Given the description of an element on the screen output the (x, y) to click on. 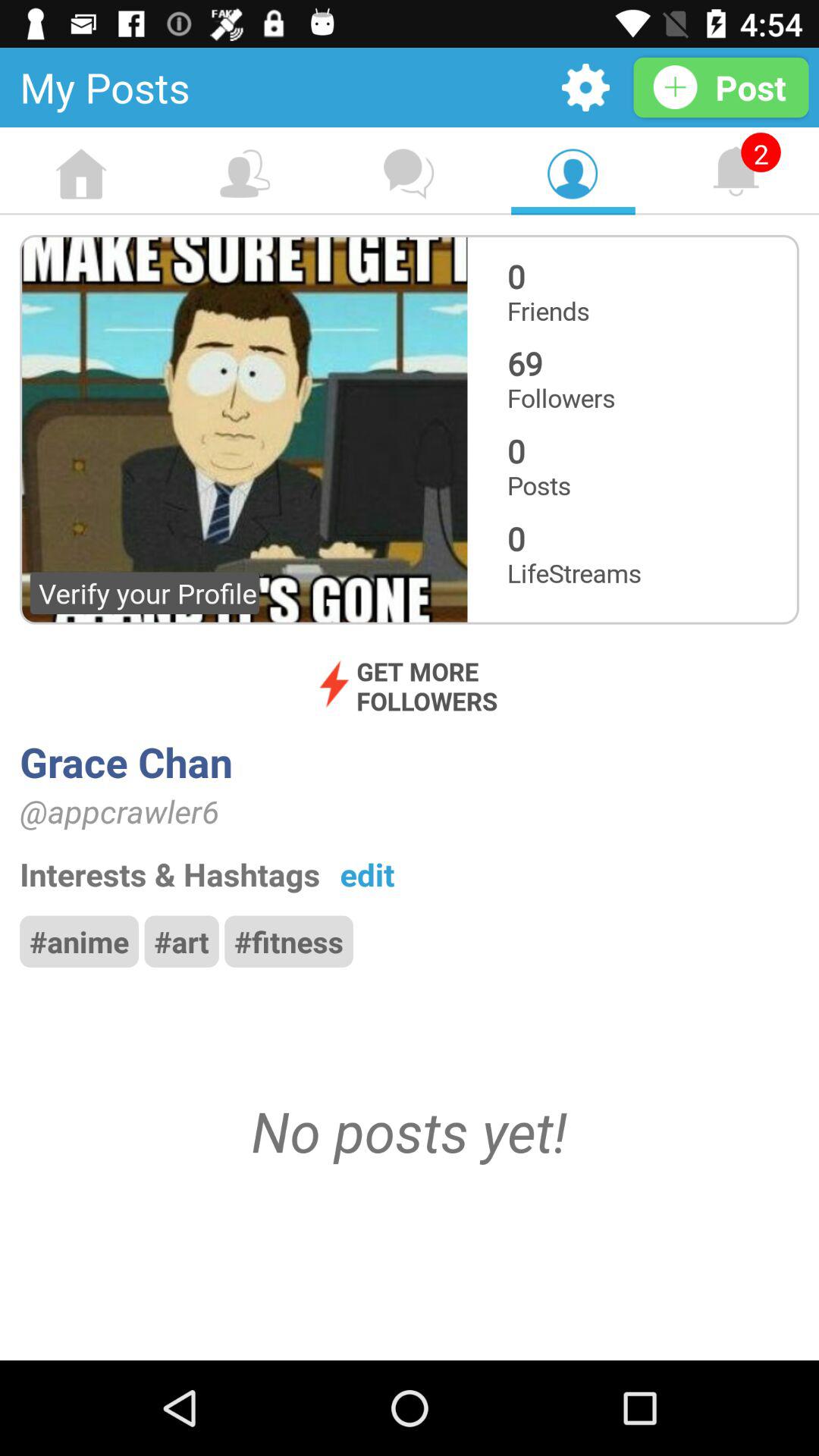
settings menu (585, 87)
